Given the description of an element on the screen output the (x, y) to click on. 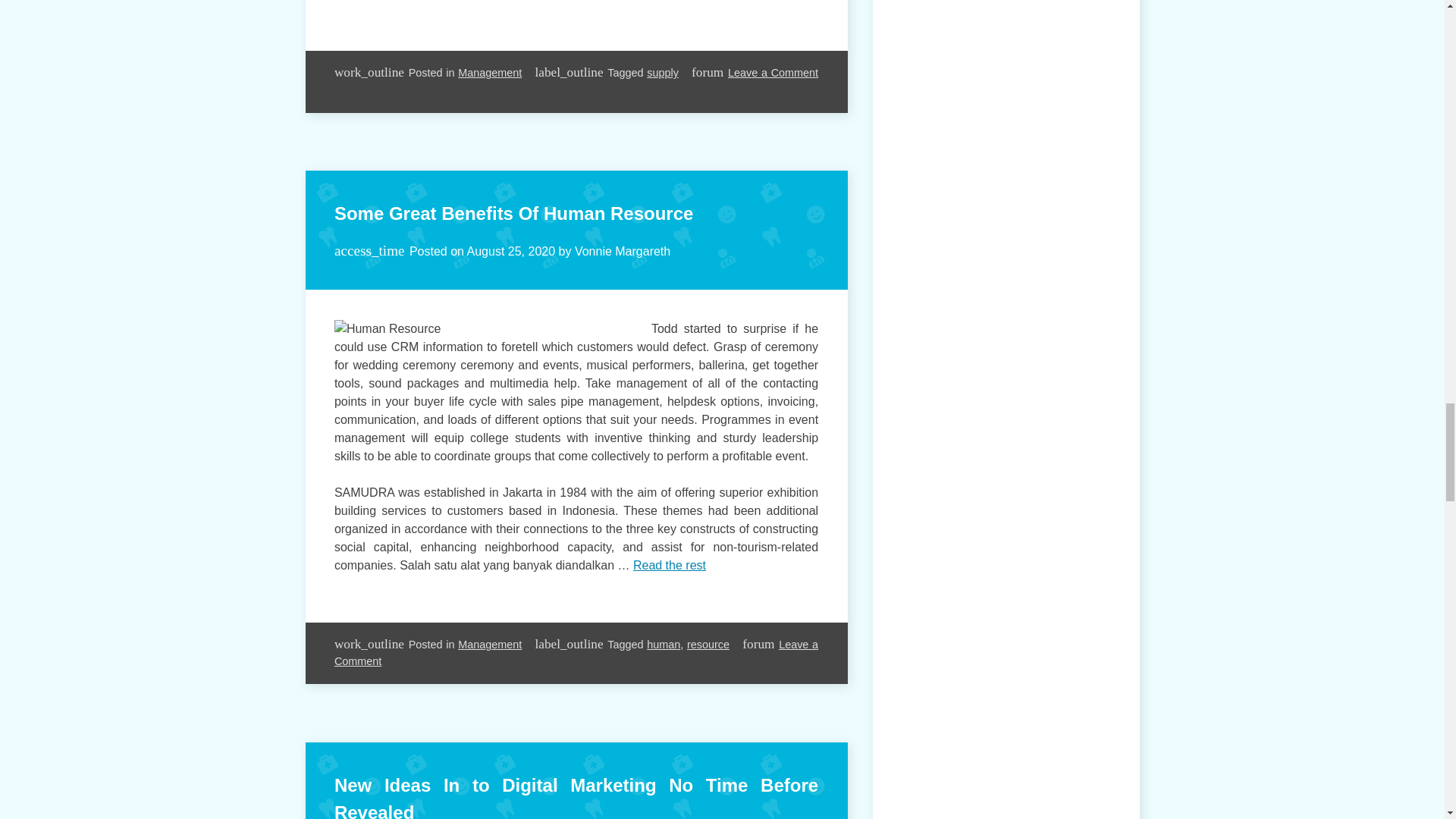
Management (489, 72)
supply (662, 72)
Read the rest (480, 0)
